Given the description of an element on the screen output the (x, y) to click on. 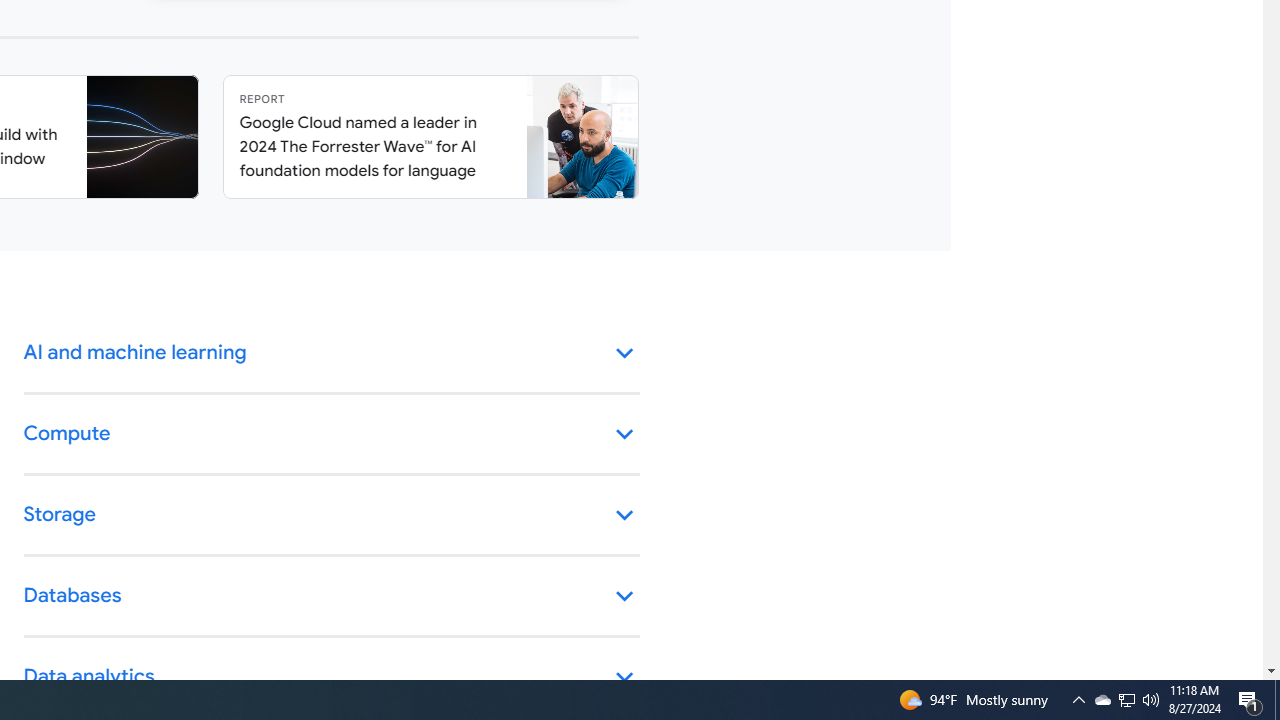
Data analytics keyboard_arrow_down (331, 678)
Storage keyboard_arrow_down (331, 516)
Compute keyboard_arrow_down (331, 434)
AI and machine learning keyboard_arrow_down (331, 354)
Databases keyboard_arrow_down (331, 596)
